Given the description of an element on the screen output the (x, y) to click on. 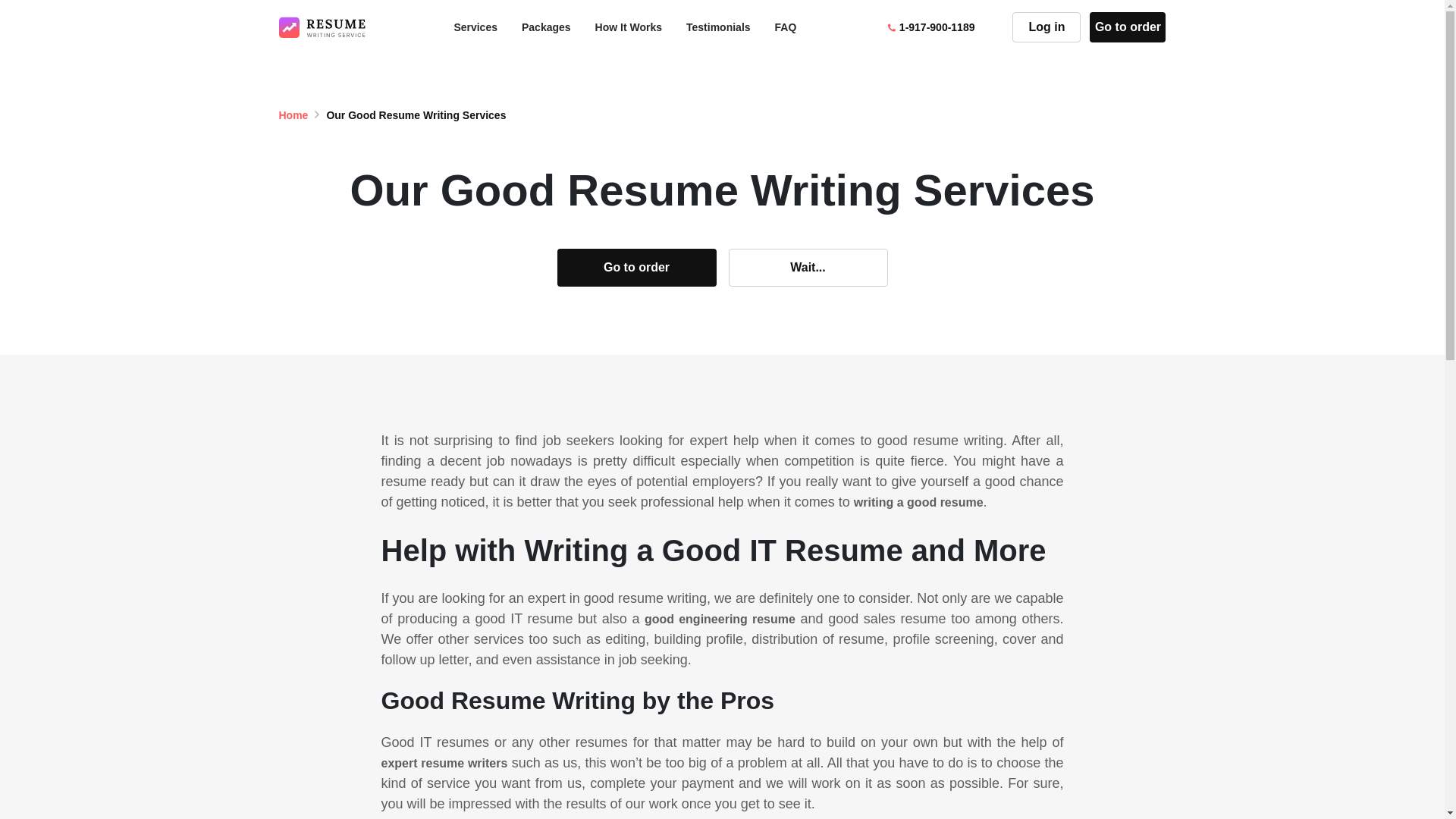
Packages (545, 27)
Go to order (1127, 26)
Go to order (636, 267)
Home (293, 114)
How It Works (628, 27)
Testimonials (718, 27)
Services (474, 27)
FAQ (785, 27)
